Given the description of an element on the screen output the (x, y) to click on. 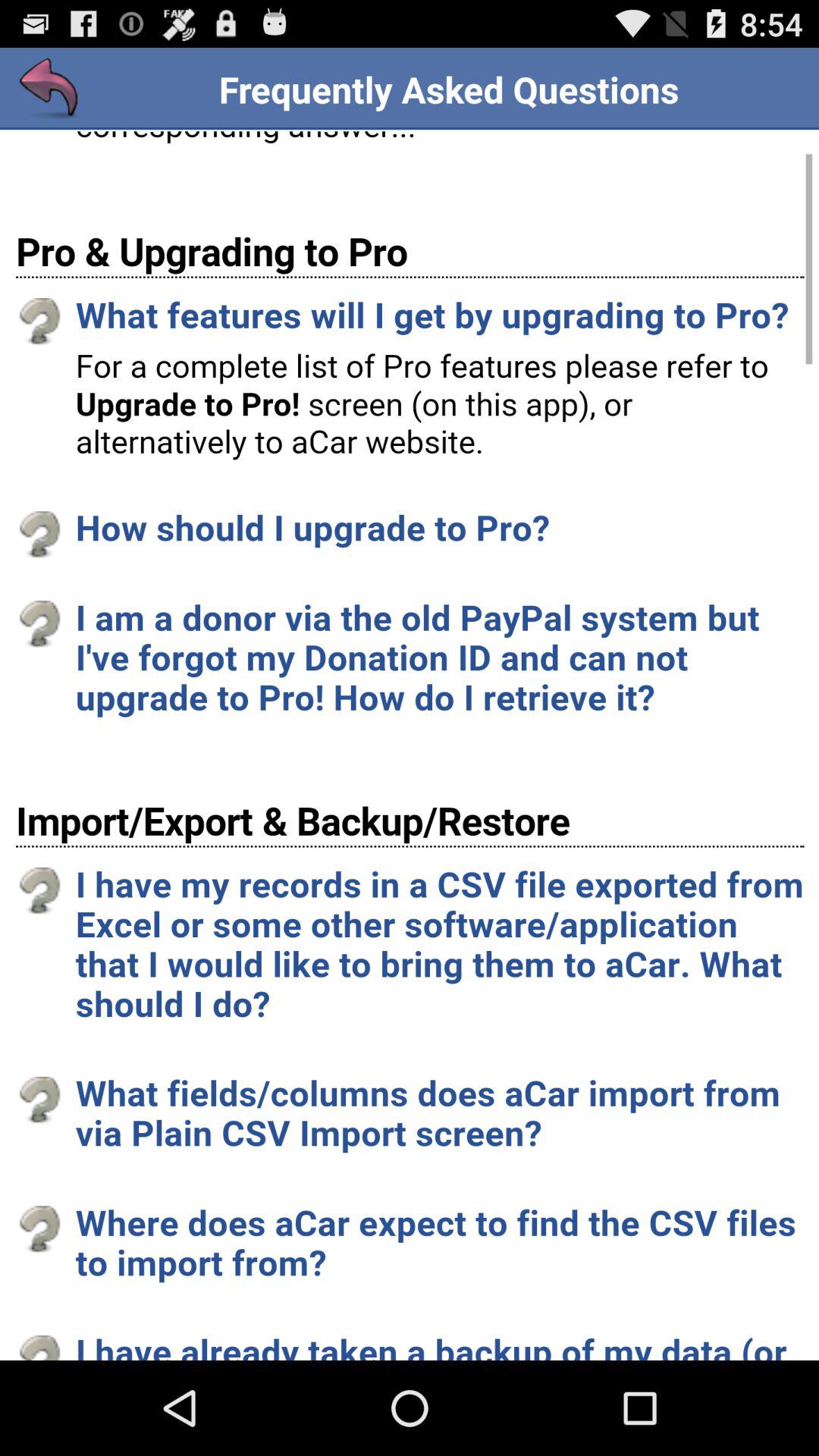
go to previous (49, 89)
